Given the description of an element on the screen output the (x, y) to click on. 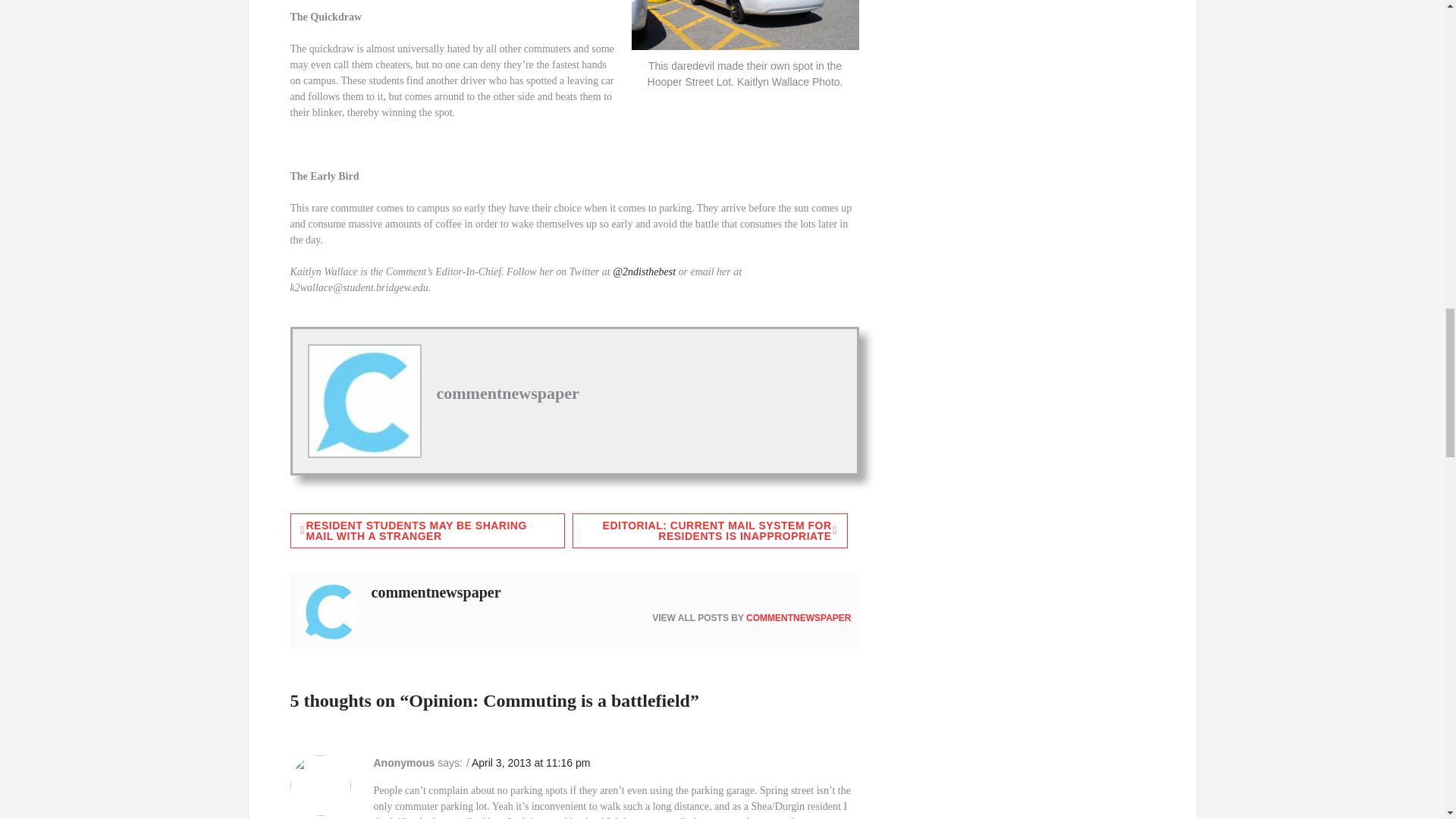
commentnewspaper (507, 393)
April 3, 2013 at 11:16 pm (530, 762)
RESIDENT STUDENTS MAY BE SHARING MAIL WITH A STRANGER (426, 530)
COMMENTNEWSPAPER (797, 617)
